Given the description of an element on the screen output the (x, y) to click on. 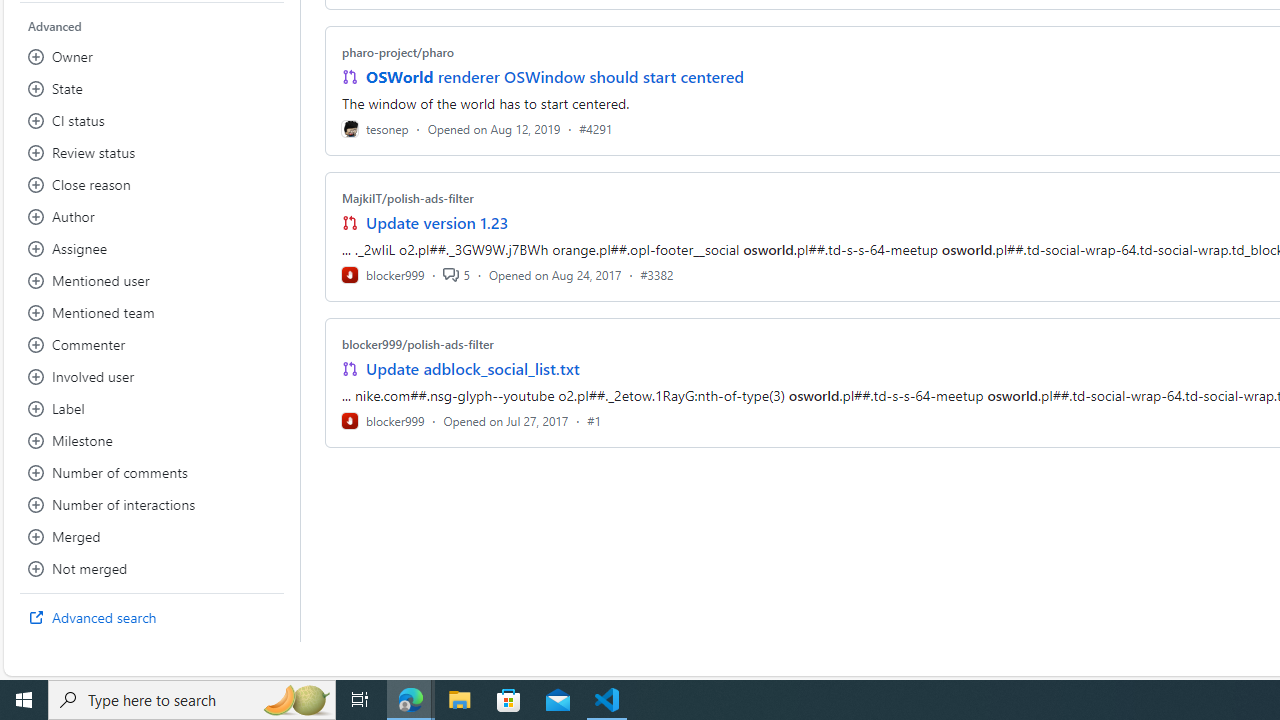
5 (455, 273)
tesonep (375, 128)
#3382 (657, 273)
